Given the description of an element on the screen output the (x, y) to click on. 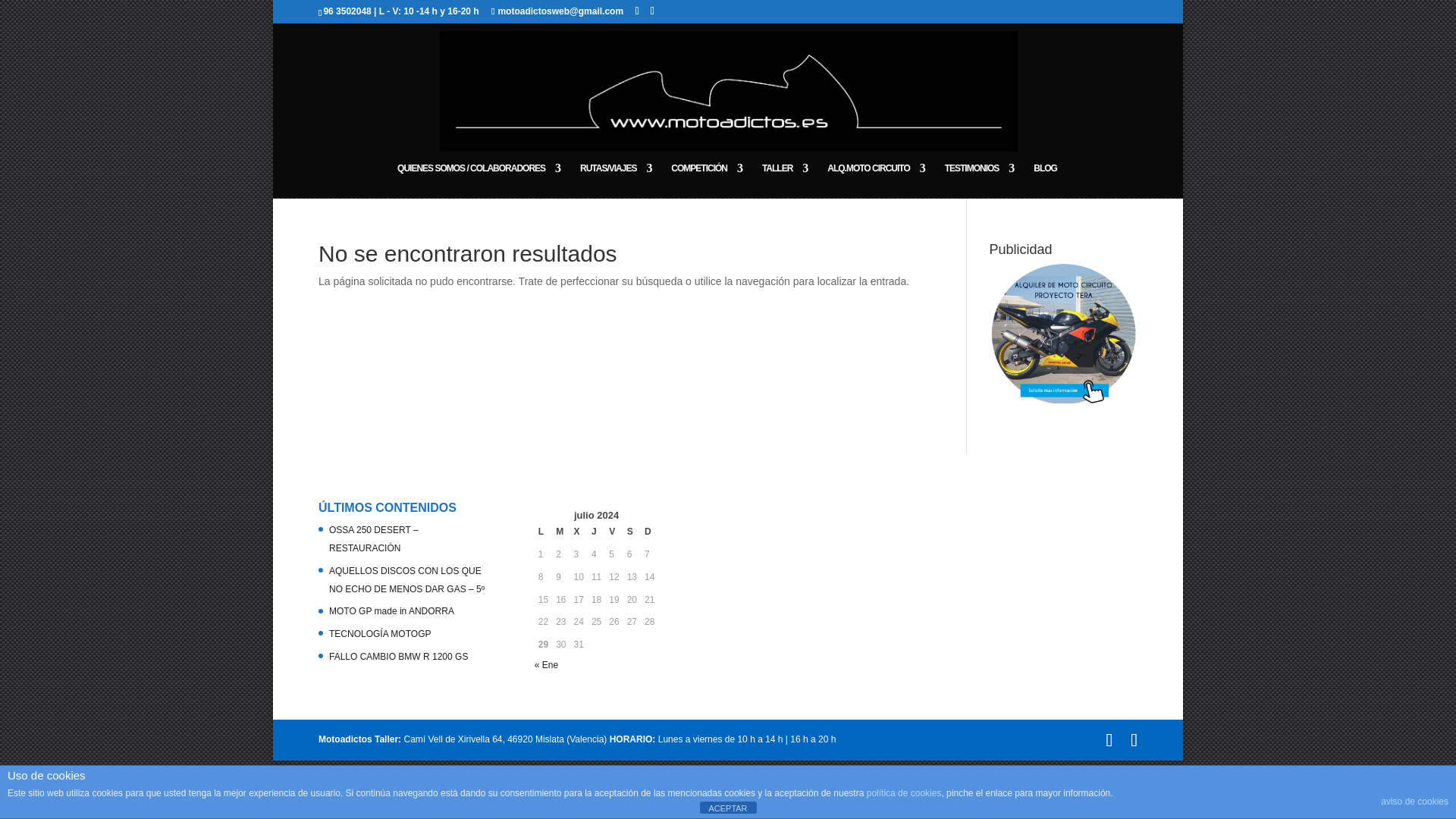
TALLER (784, 180)
ALQ.MOTO CIRCUITO (875, 180)
fb:page Facebook Social Plugin (836, 583)
TESTIMONIOS (979, 180)
advertisement (1063, 333)
